Given the description of an element on the screen output the (x, y) to click on. 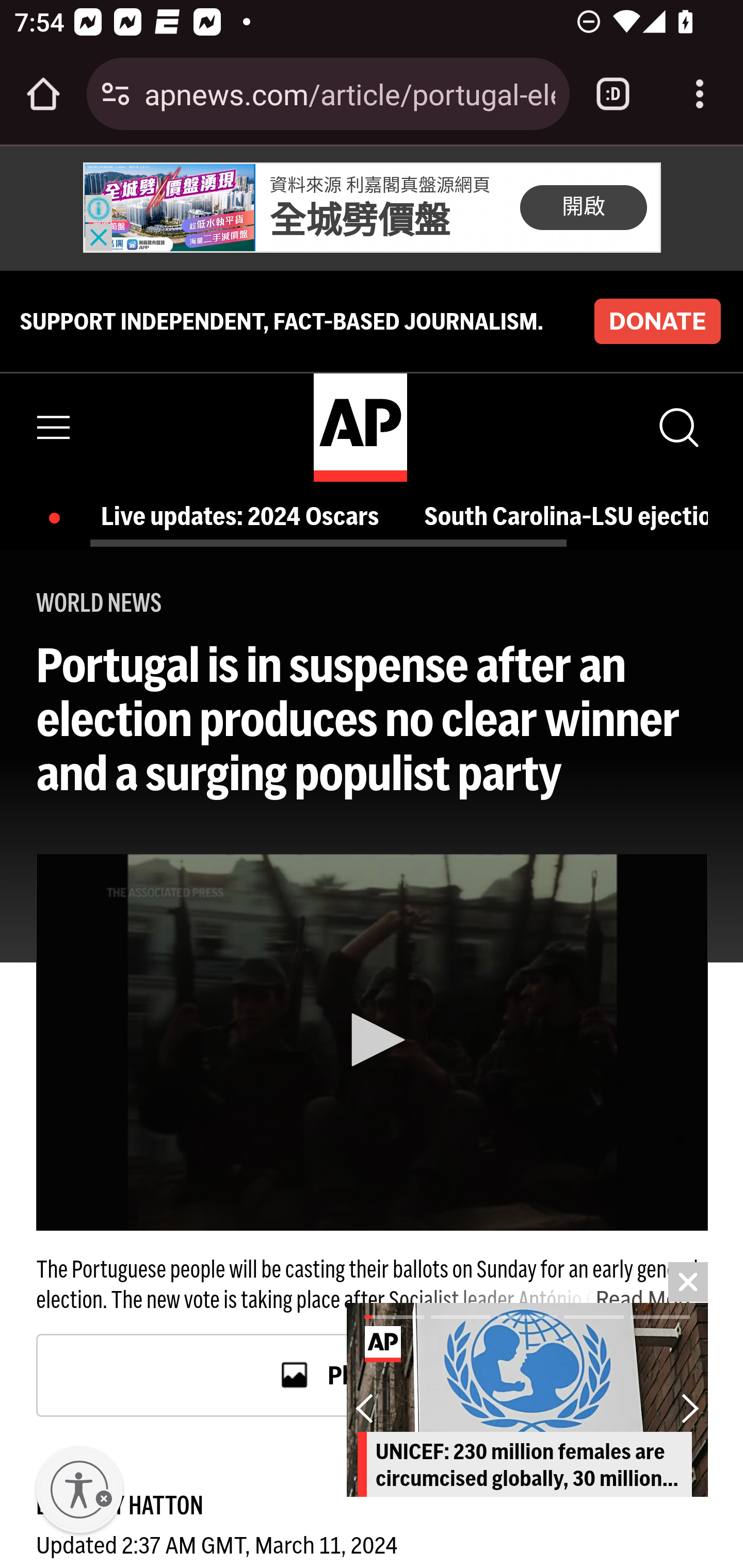
Open the home page (43, 93)
Connection is secure (115, 93)
Switch or close tabs (612, 93)
Customize and control Google Chrome (699, 93)
DONATE (657, 320)
home page AP Logo (359, 426)
Menu (54, 427)
Show Search (677, 427)
Live updates: 2024 Oscars (245, 516)
South Carolina-LSU ejections (565, 516)
WORLD NEWS (99, 602)
Play (371, 1040)
Enable accessibility (79, 1490)
